Given the description of an element on the screen output the (x, y) to click on. 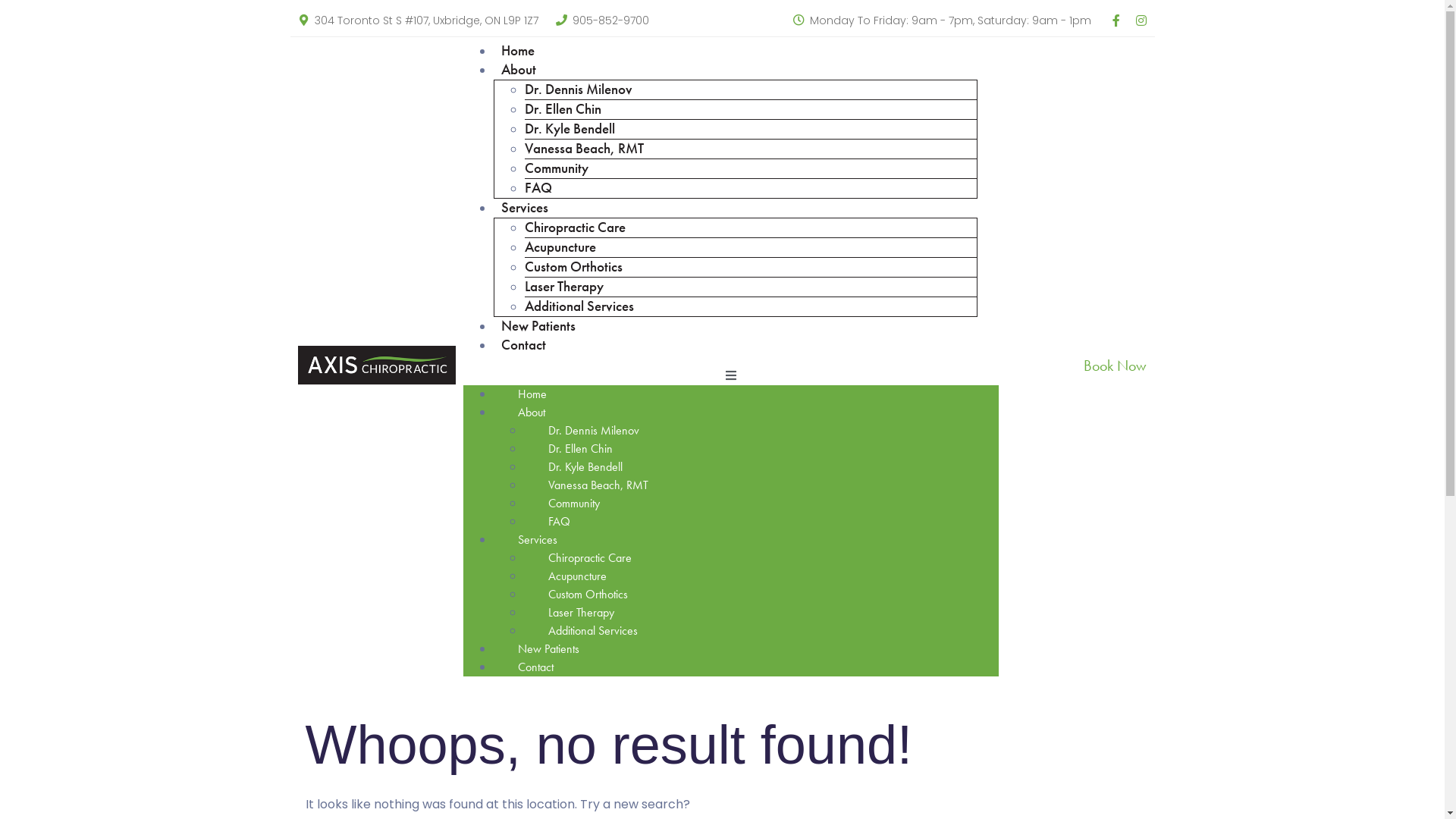
Services Element type: text (537, 539)
Chiropractic Care Element type: text (589, 557)
304 Toronto St S #107, Uxbridge, ON L9P 1Z7 Element type: text (425, 20)
New Patients Element type: text (538, 326)
Vanessa Beach, RMT Element type: text (583, 147)
Contact Element type: text (535, 666)
Additional Services Element type: text (578, 305)
Acupuncture Element type: text (577, 575)
Additional Services Element type: text (593, 630)
905-852-9700 Element type: text (609, 20)
Services Element type: text (524, 208)
New Patients Element type: text (548, 648)
Laser Therapy Element type: text (581, 612)
About Element type: text (518, 70)
Custom Orthotics Element type: text (588, 594)
FAQ Element type: text (538, 187)
Dr. Ellen Chin Element type: text (562, 108)
Home Element type: text (532, 393)
Dr. Dennis Milenov Element type: text (593, 430)
Dr. Dennis Milenov Element type: text (578, 88)
Book Now Element type: text (1114, 365)
Home Element type: text (517, 51)
Community Element type: text (574, 503)
Dr. Ellen Chin Element type: text (580, 448)
Custom Orthotics Element type: text (573, 266)
Community Element type: text (556, 167)
Dr. Kyle Bendell Element type: text (585, 466)
FAQ Element type: text (559, 521)
Vanessa Beach, RMT Element type: text (598, 484)
Laser Therapy Element type: text (563, 285)
Chiropractic Care Element type: text (574, 226)
Acupuncture Element type: text (560, 246)
About Element type: text (531, 412)
Contact Element type: text (523, 345)
Dr. Kyle Bendell Element type: text (569, 128)
